Given the description of an element on the screen output the (x, y) to click on. 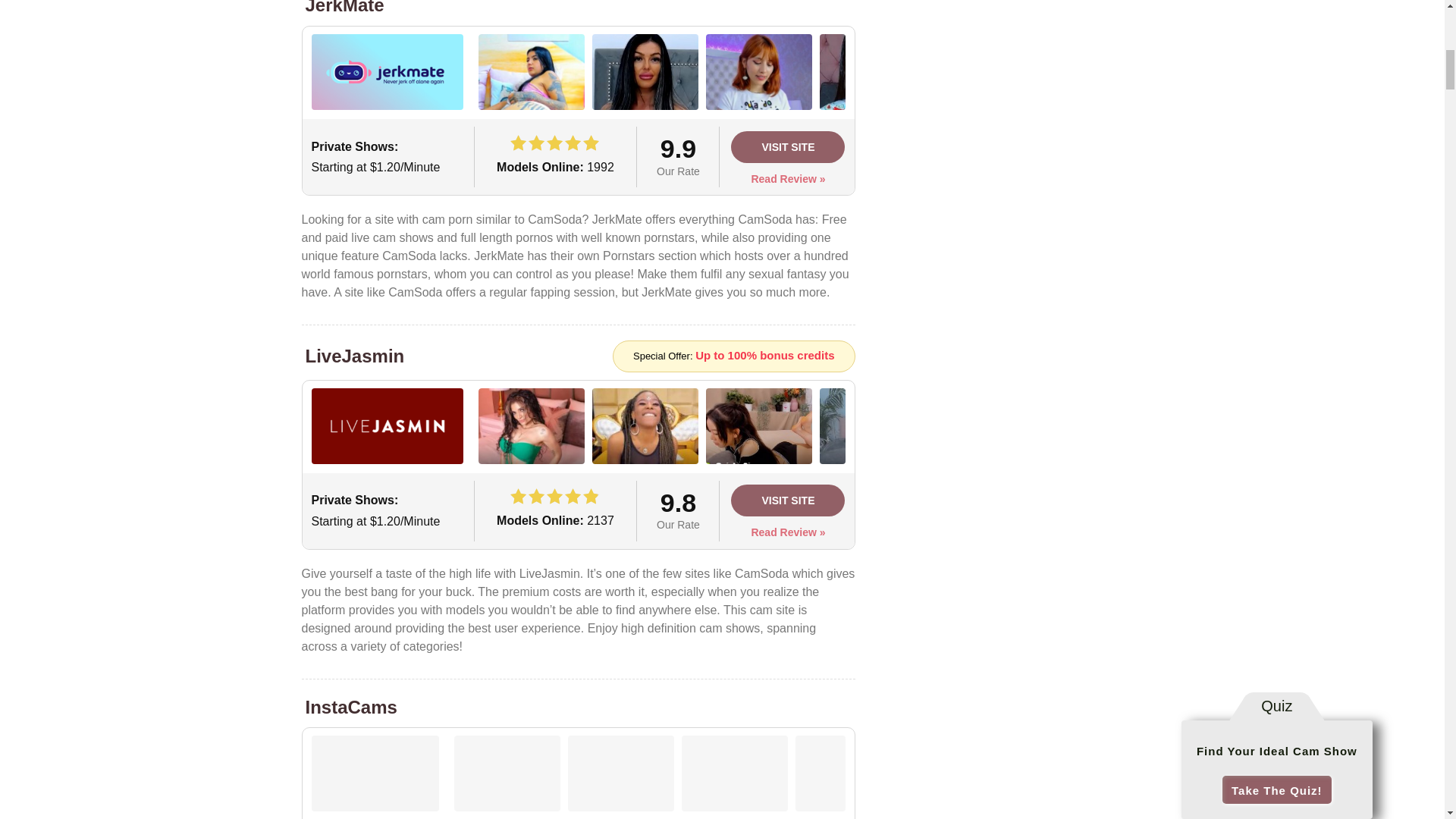
Our Score (548, 141)
Our Score (548, 495)
